Given the description of an element on the screen output the (x, y) to click on. 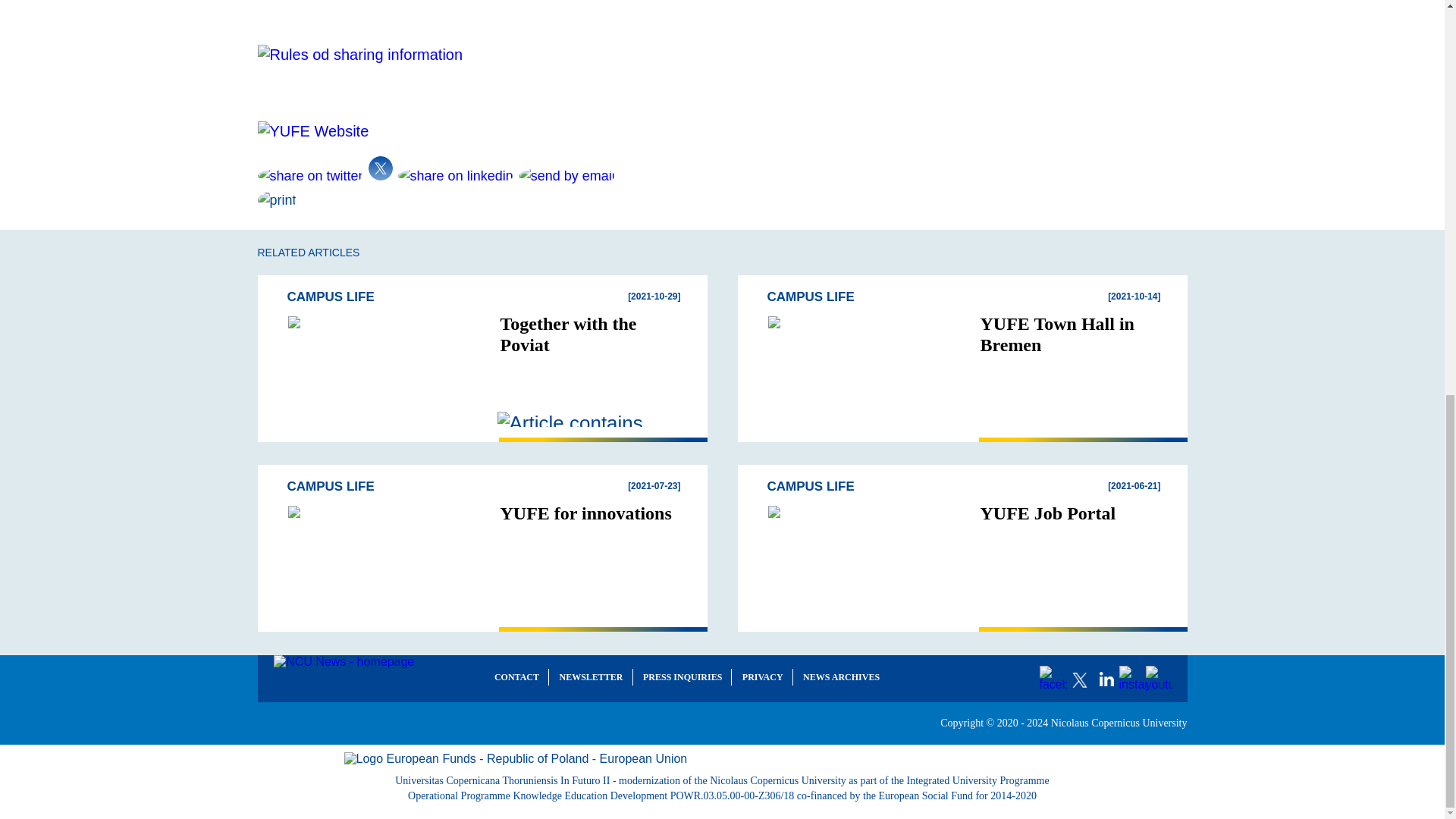
European Funds - Republic of Poland - European Union (721, 758)
